Given the description of an element on the screen output the (x, y) to click on. 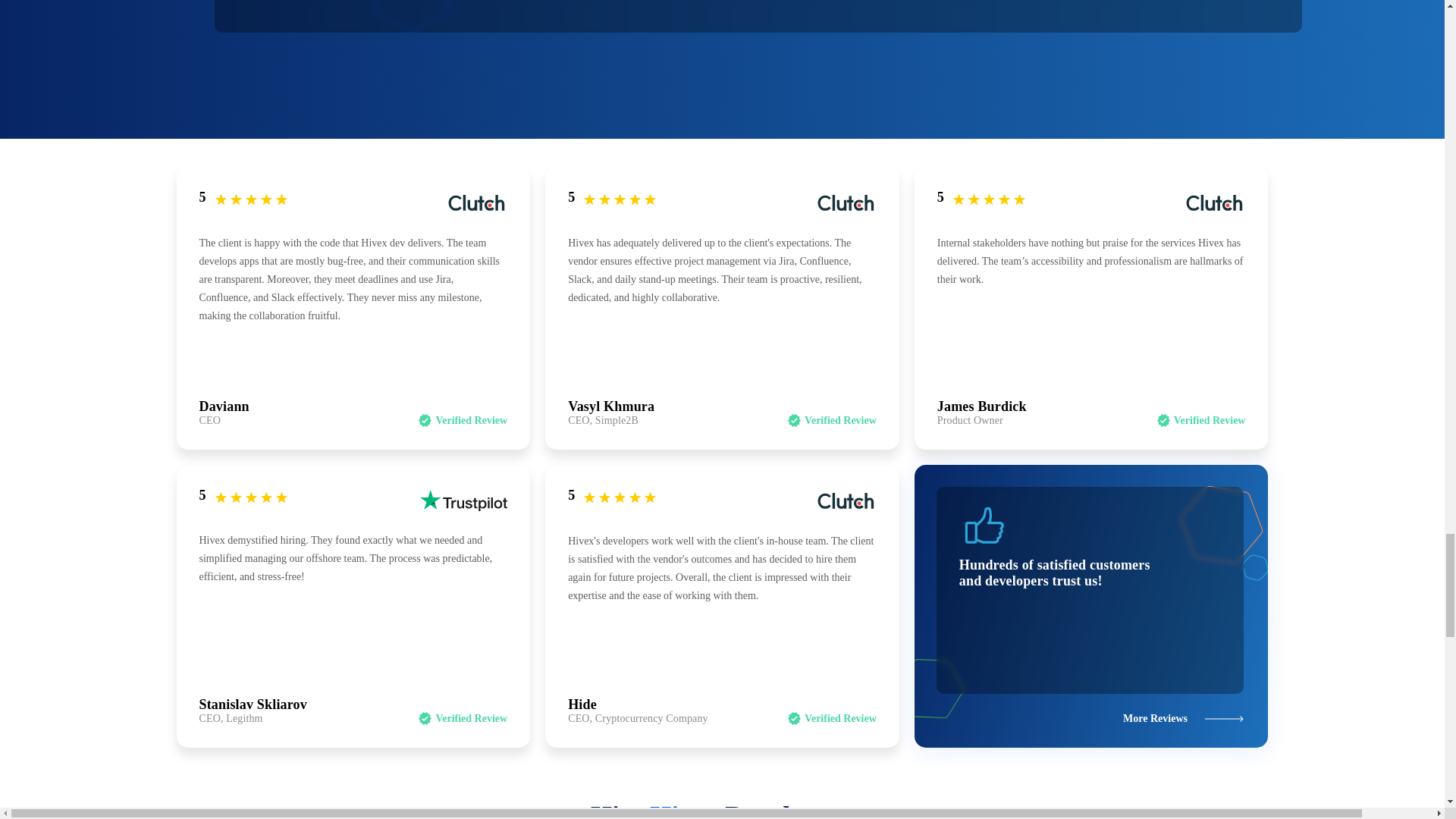
More Reviews (1182, 717)
